Given the description of an element on the screen output the (x, y) to click on. 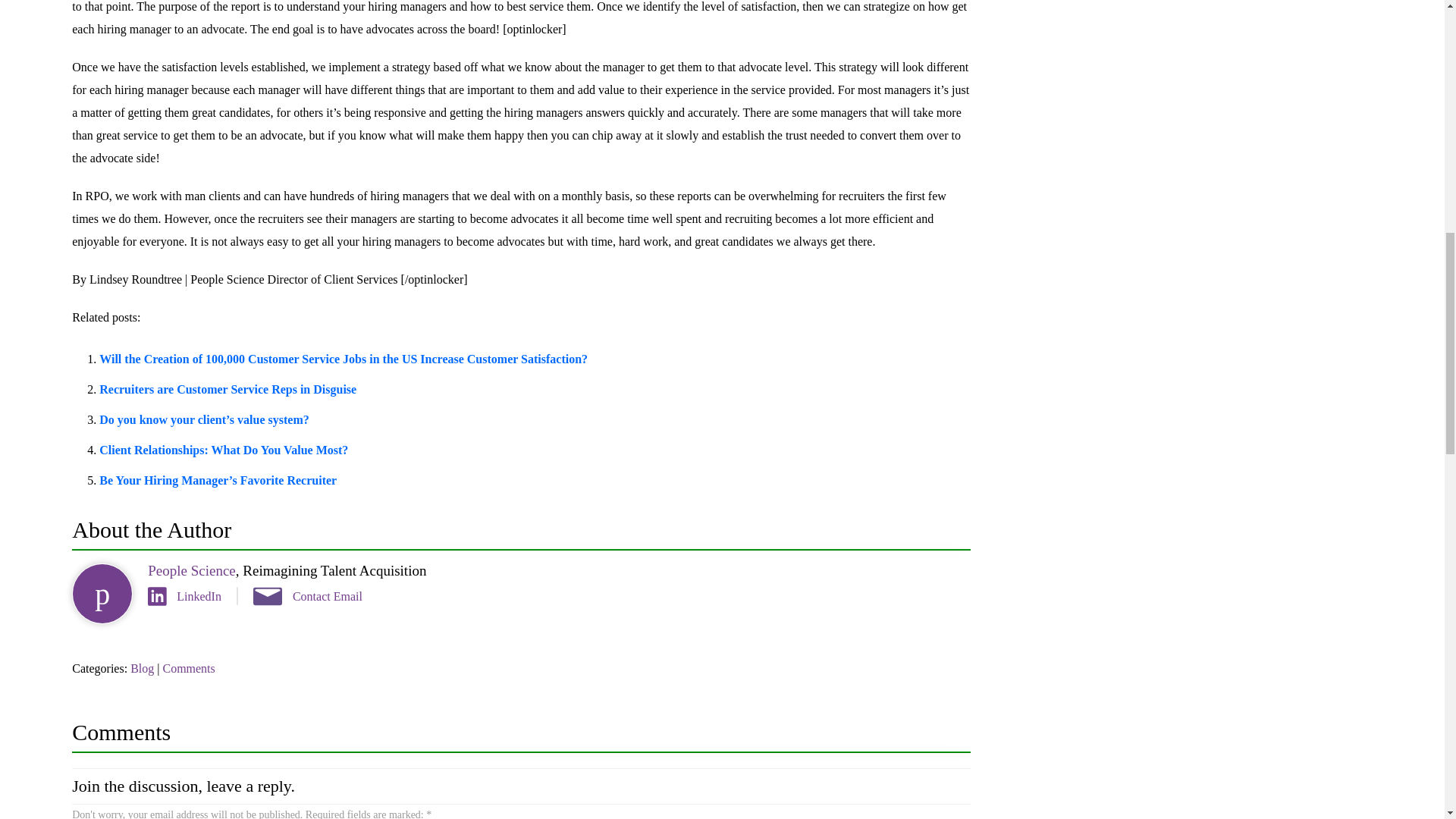
Posts by People Science (191, 570)
Recruiters are Customer Service Reps in Disguise (227, 389)
Client Relationships: What Do You Value Most? (223, 449)
